Given the description of an element on the screen output the (x, y) to click on. 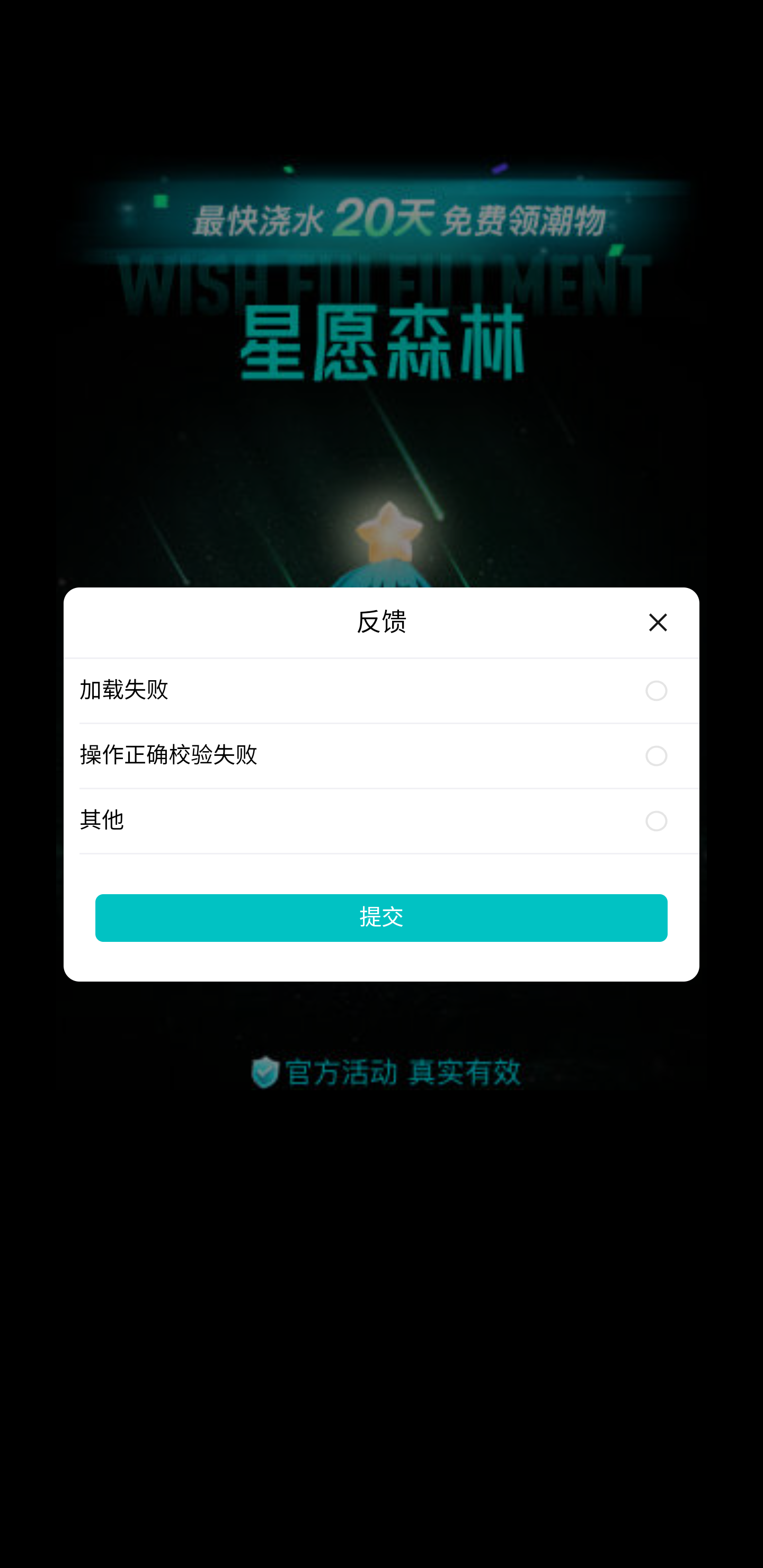
提交 (381, 917)
